Given the description of an element on the screen output the (x, y) to click on. 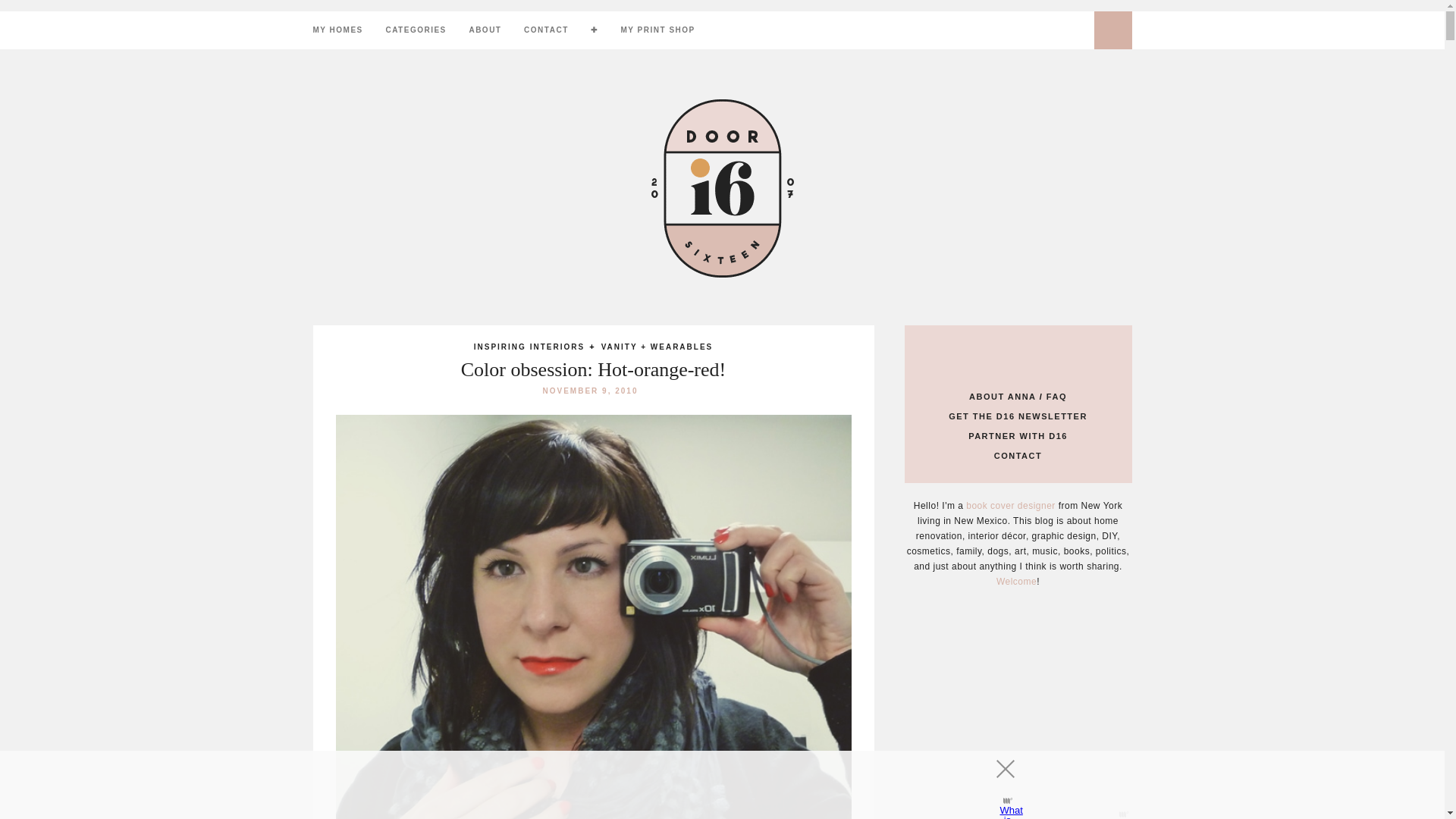
3rd party ad content (708, 785)
3rd party ad content (1017, 714)
CONTACT (546, 30)
CATEGORIES (415, 30)
MY PRINT SHOP (657, 30)
MY HOMES (337, 30)
